Given the description of an element on the screen output the (x, y) to click on. 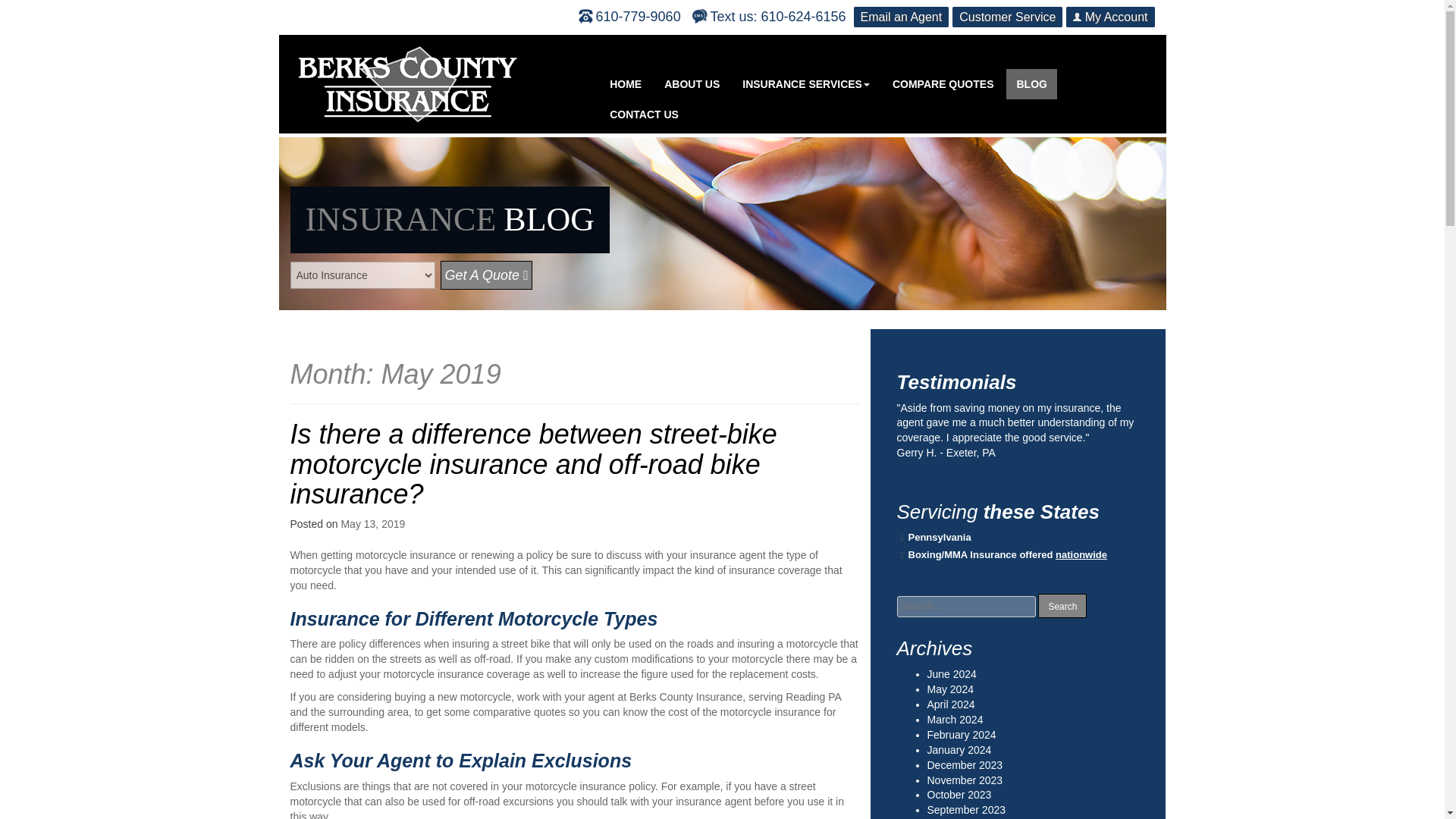
Search (1062, 605)
COMPARE QUOTES (943, 83)
BLOG (1031, 83)
My Account (1109, 16)
Get A Quote  (486, 275)
Customer Service (1007, 16)
Customer Service (1007, 16)
CONTACT US (643, 114)
Email an Agent (901, 16)
ABOUT US (691, 83)
About Berks County Insurance (691, 83)
INSURANCE SERVICES (805, 83)
My Account (1109, 16)
Email an Agent (901, 16)
Insurance Services (805, 83)
